Given the description of an element on the screen output the (x, y) to click on. 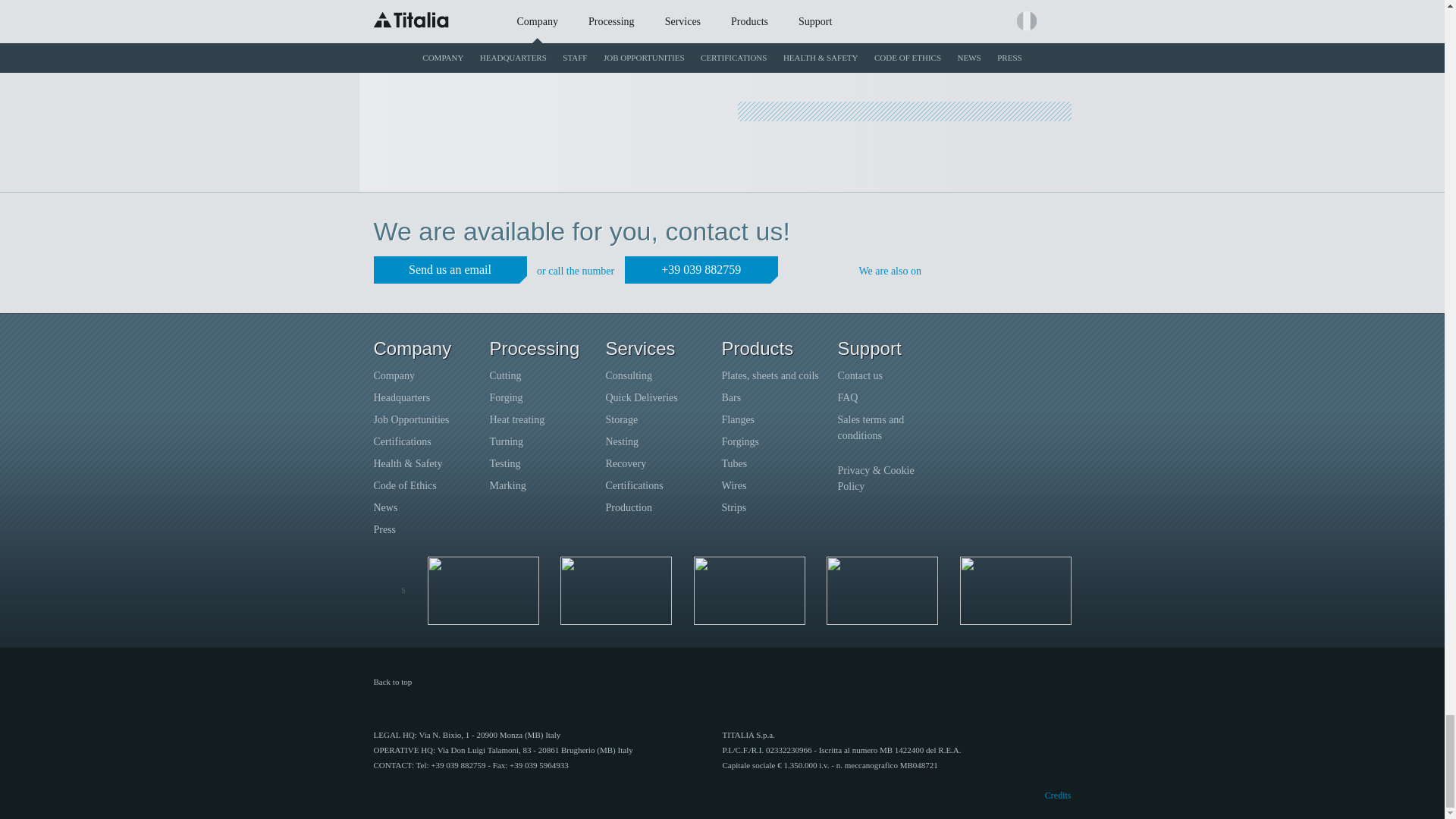
web agency (1051, 795)
Privacy Policy (875, 478)
